Given the description of an element on the screen output the (x, y) to click on. 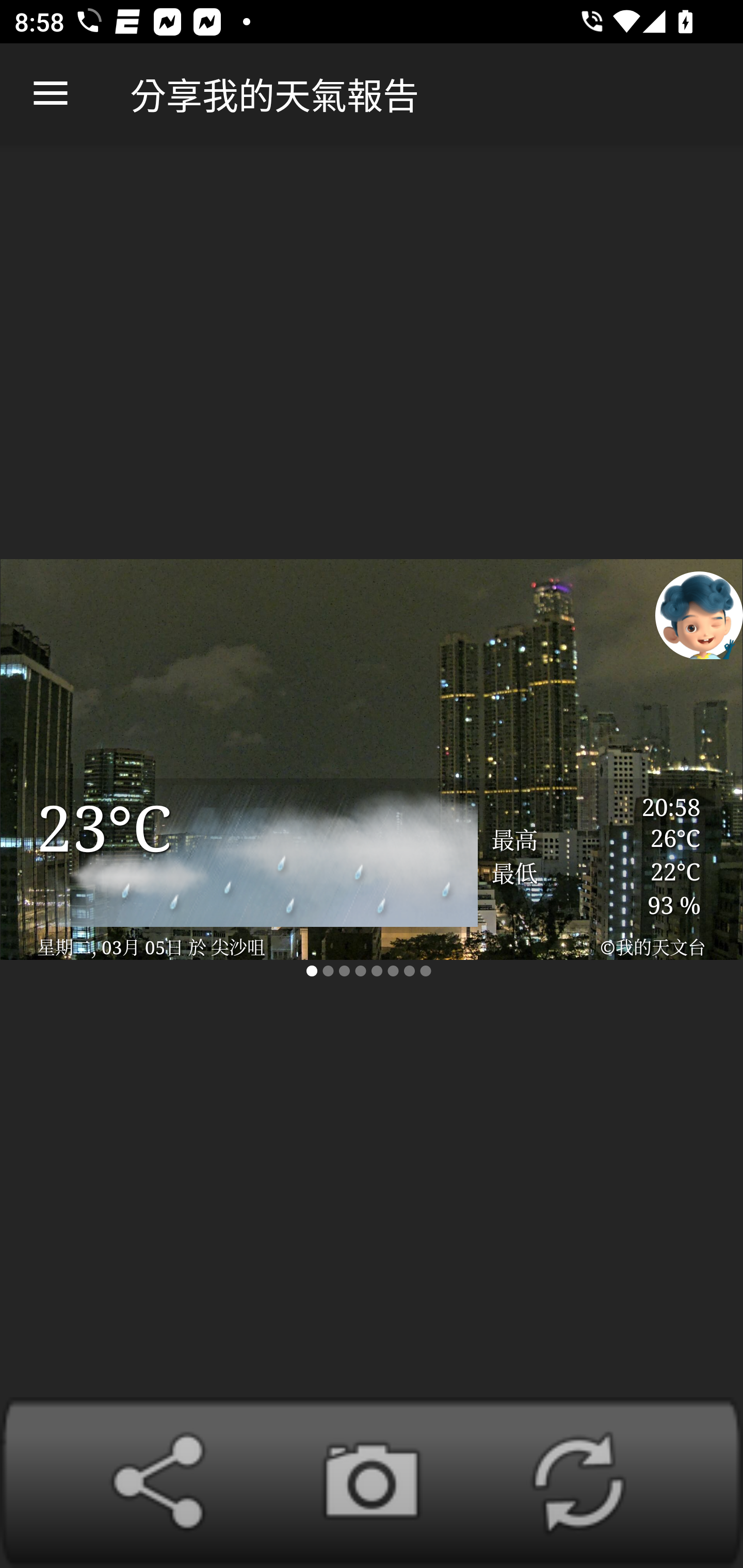
向上瀏覽 (50, 93)
聊天機械人 (699, 614)
分享 (164, 1482)
拍攝 (371, 1482)
重新整理 (577, 1482)
